Given the description of an element on the screen output the (x, y) to click on. 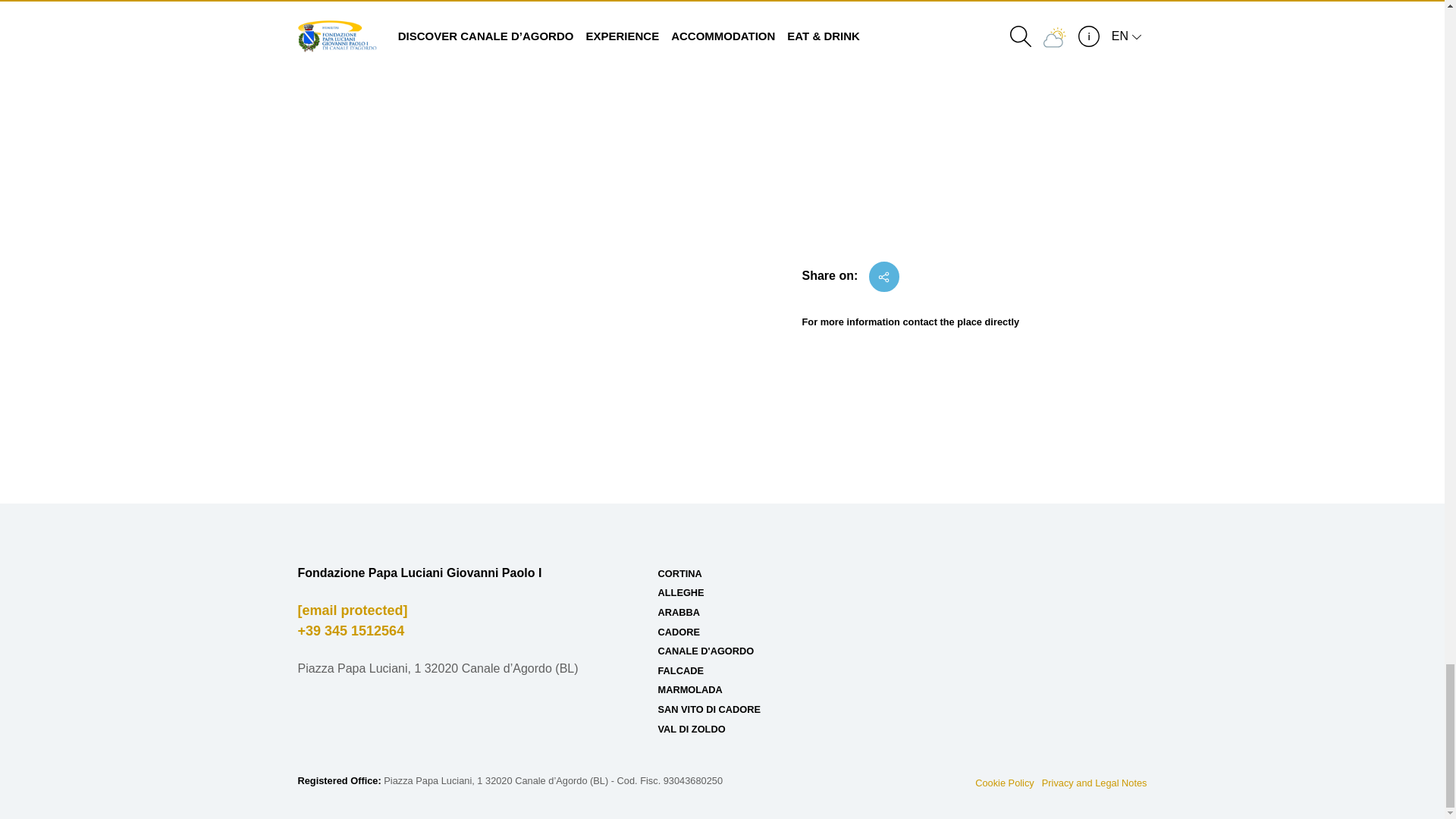
CADORE (679, 632)
MARMOLADA (690, 689)
ALLEGHE (681, 592)
CORTINA (679, 573)
ARABBA (679, 612)
FALCADE (680, 670)
CANALE D'AGORDO (706, 650)
